Given the description of an element on the screen output the (x, y) to click on. 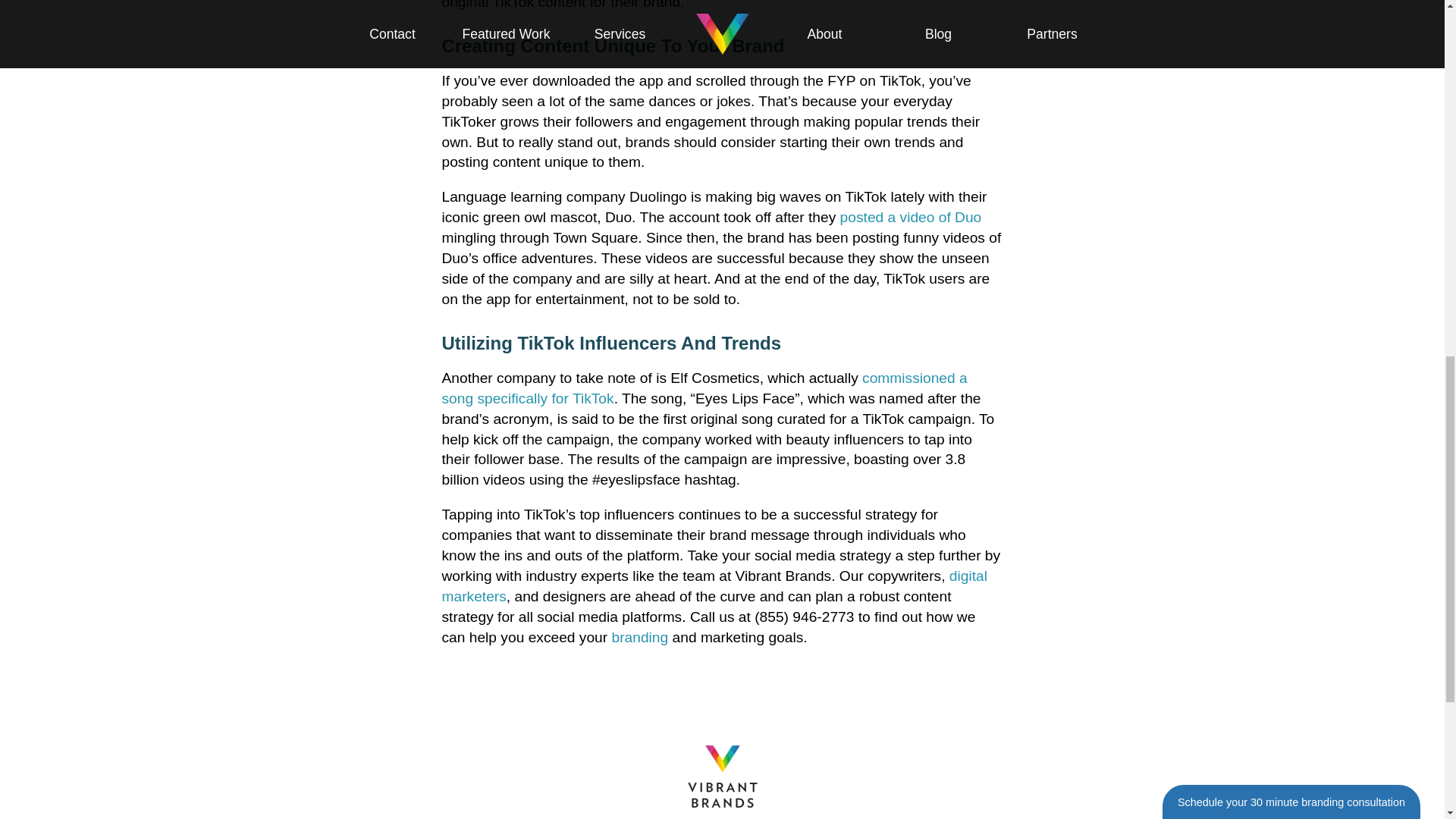
digital marketers (714, 586)
branding (639, 637)
commissioned a song specifically for TikTok (703, 388)
posted a video of Duo (910, 217)
